Given the description of an element on the screen output the (x, y) to click on. 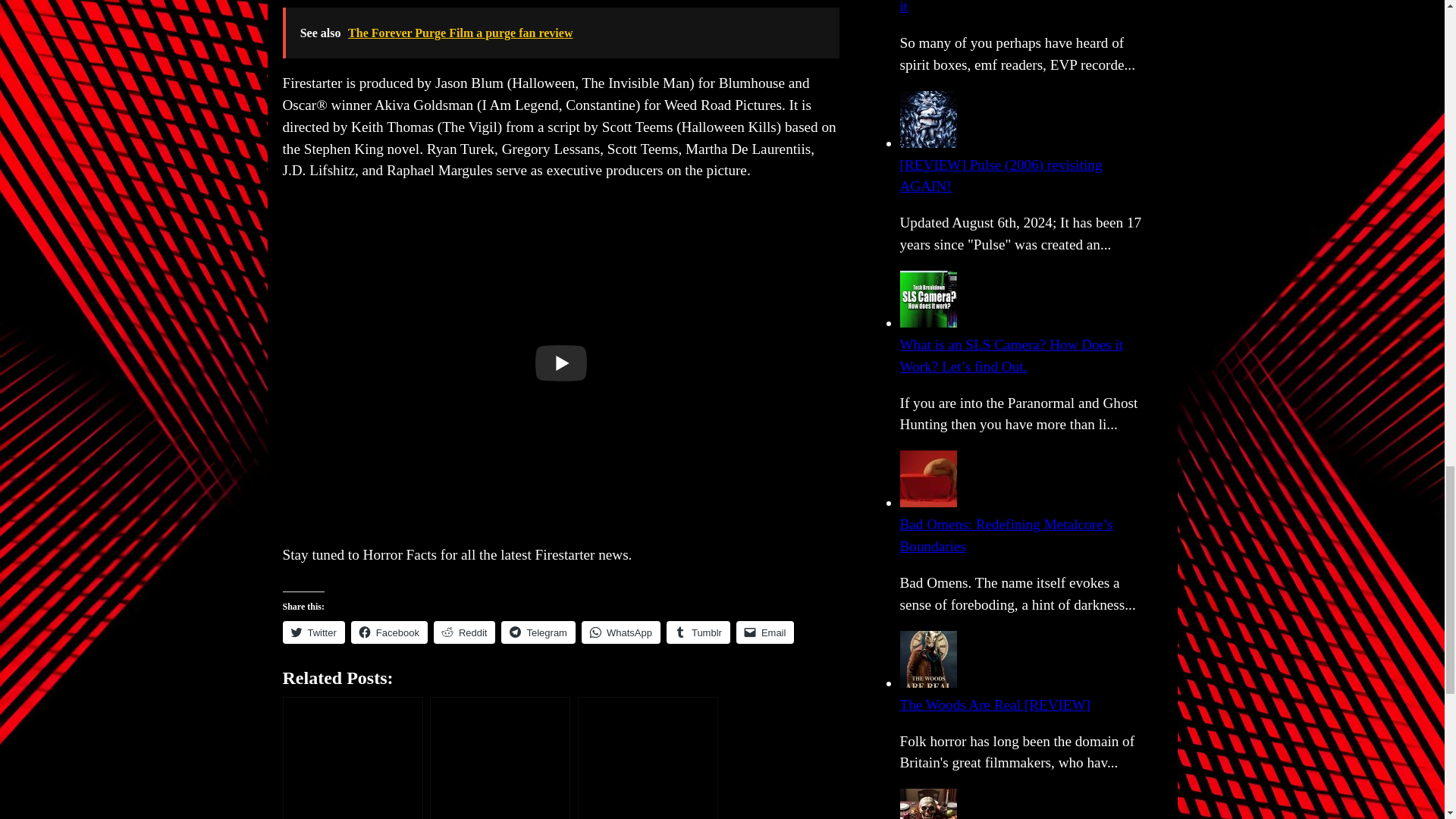
Click to email a link to a friend (765, 631)
Firestarter remake is set to start filming (499, 757)
Click to share on Twitter (312, 631)
Click to share on Reddit (464, 631)
Click to share on Telegram (537, 631)
Click to share on Tumblr (698, 631)
Click to share on Facebook (389, 631)
Click to share on WhatsApp (620, 631)
